Given the description of an element on the screen output the (x, y) to click on. 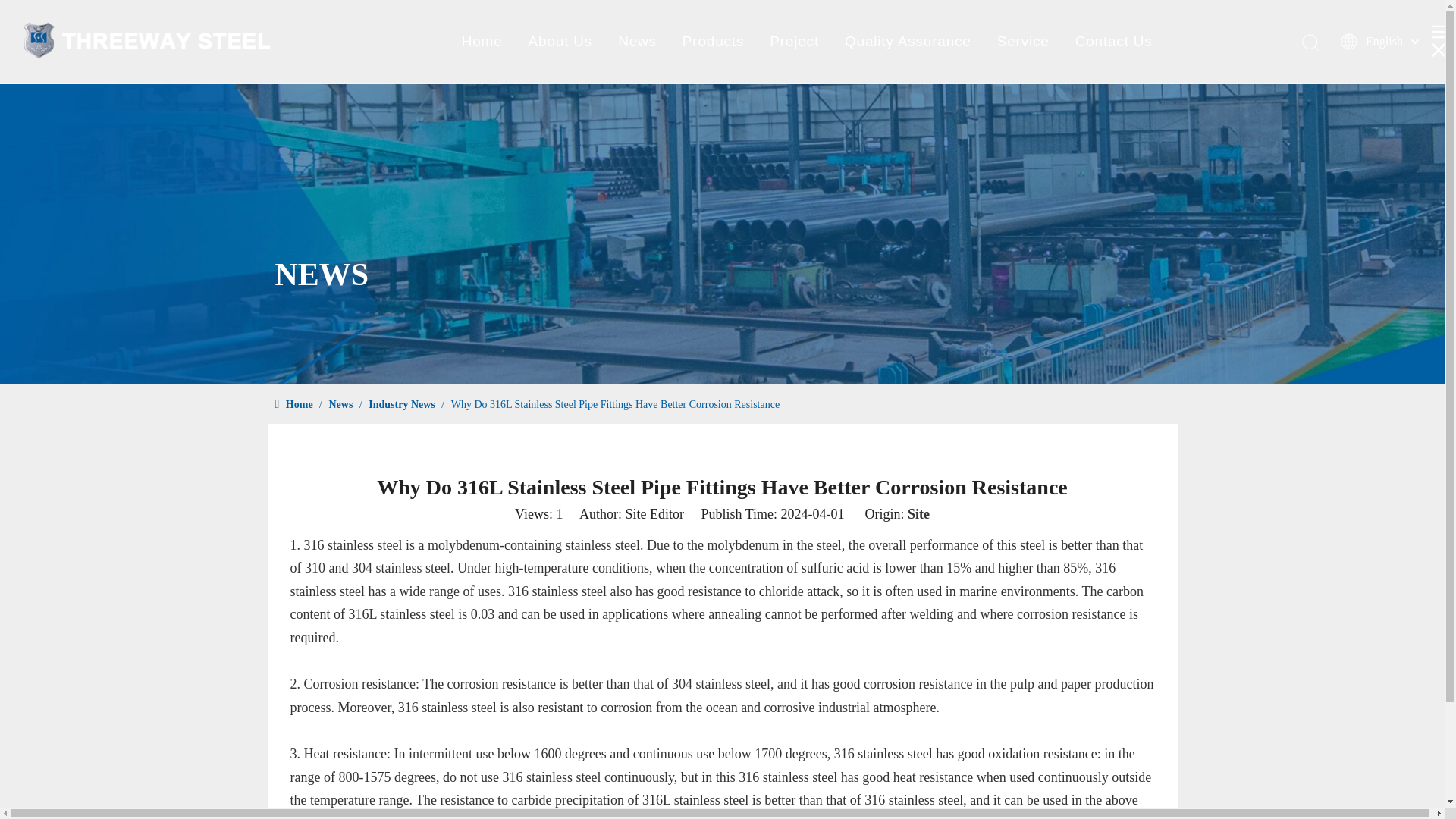
Products (713, 41)
News (636, 41)
About Us (560, 41)
Home (481, 41)
